Given the description of an element on the screen output the (x, y) to click on. 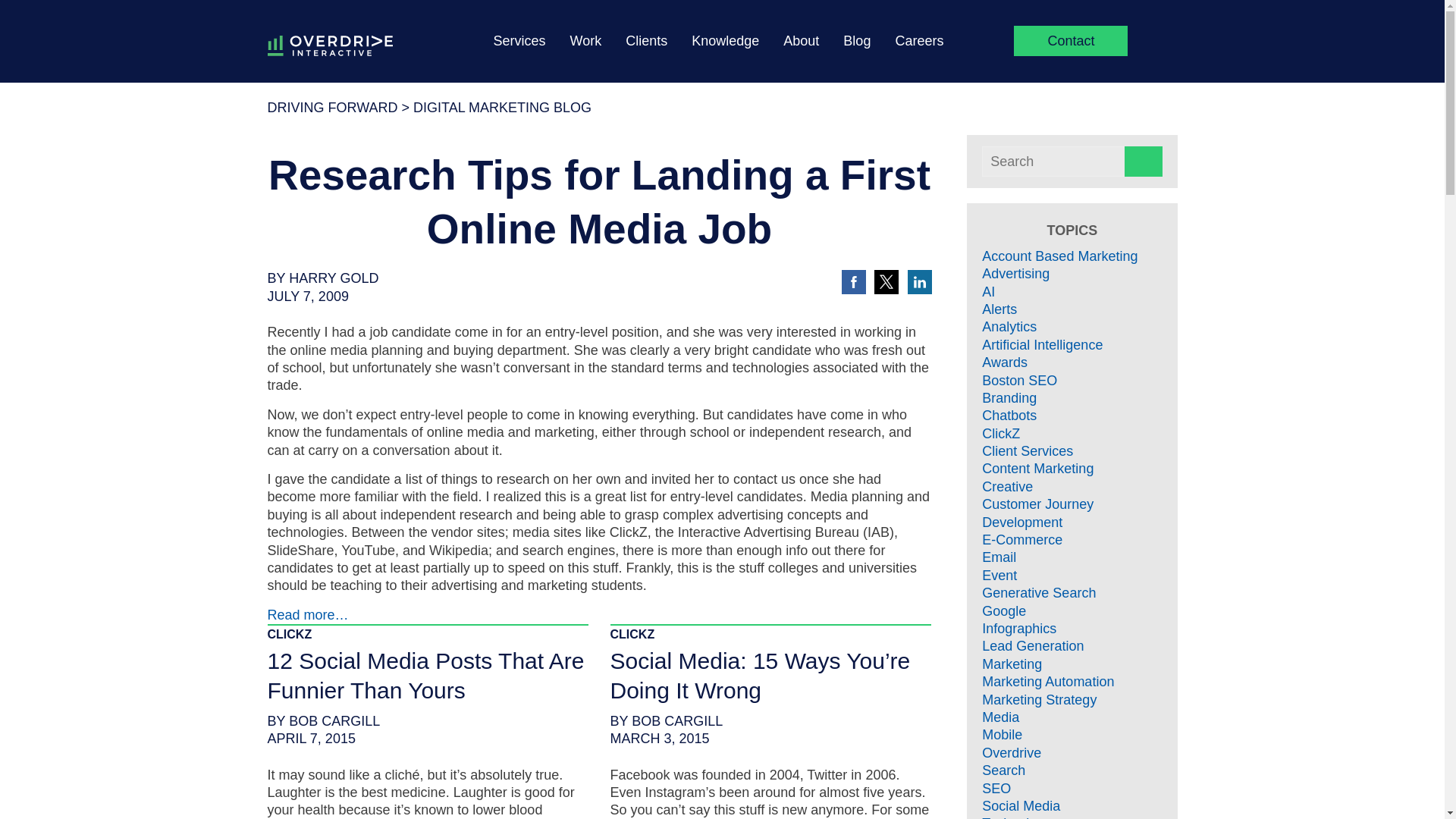
Alerts (998, 309)
Awards (1004, 362)
Boston SEO (1019, 380)
About (800, 38)
Services (518, 38)
CLICKZ (631, 634)
BY BOB CARGILL (666, 721)
Careers (919, 38)
Work (586, 38)
